Given the description of an element on the screen output the (x, y) to click on. 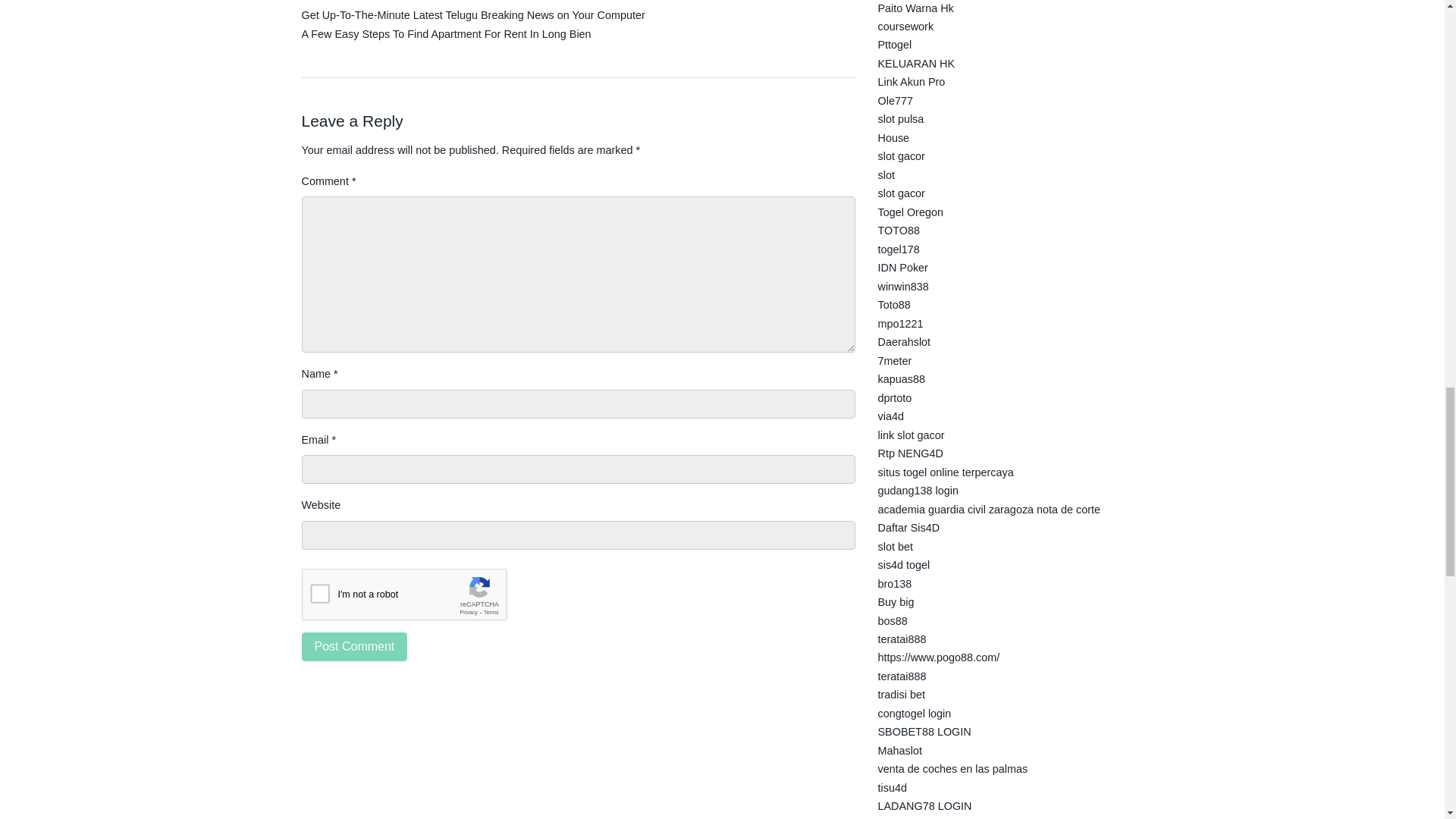
Post Comment (354, 646)
Post Comment (354, 646)
reCAPTCHA (416, 598)
A Few Easy Steps To Find Apartment For Rent In Long Bien (446, 33)
